Given the description of an element on the screen output the (x, y) to click on. 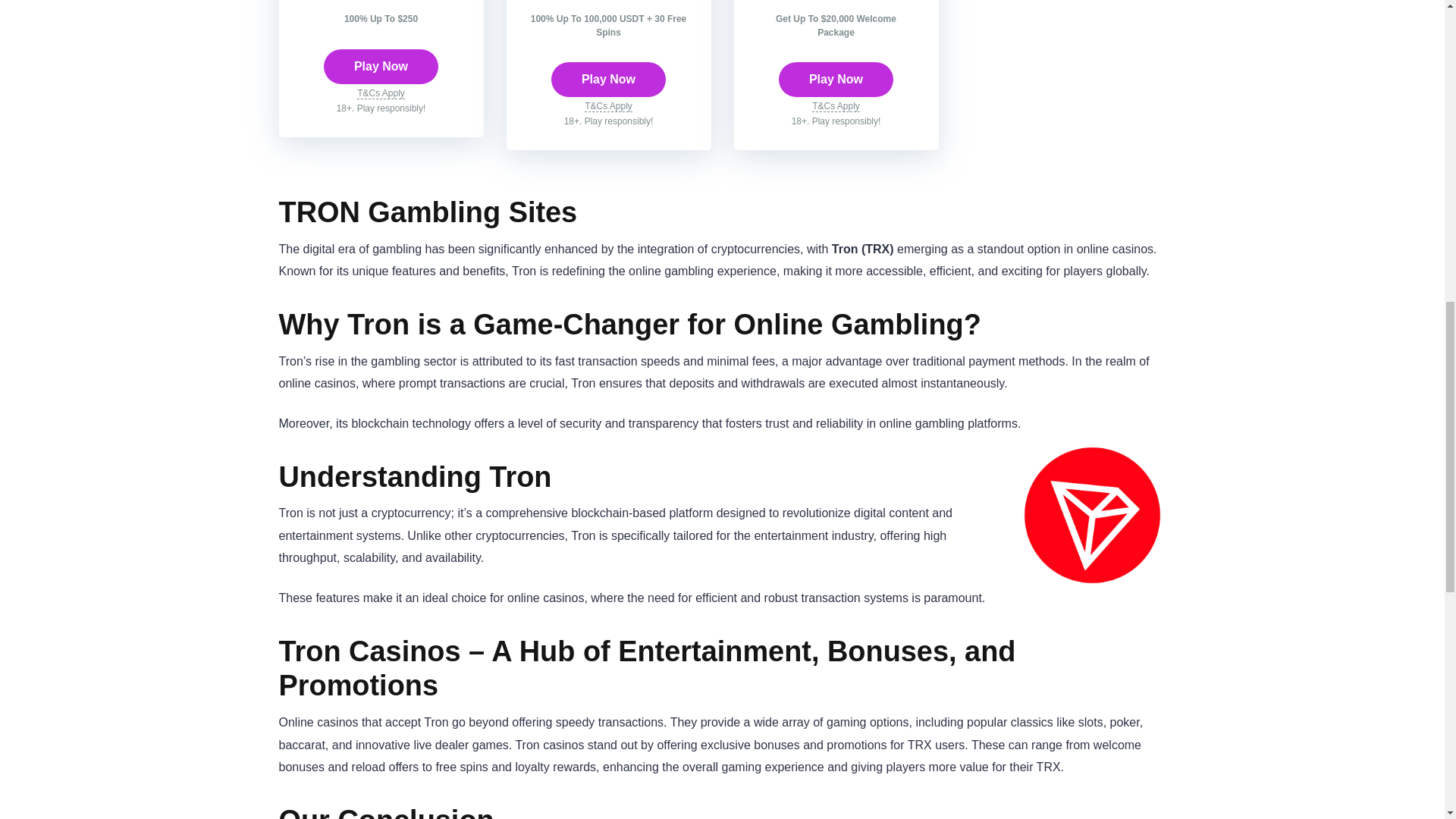
Play Now (608, 79)
Play Now (380, 66)
Play Now (835, 79)
